Given the description of an element on the screen output the (x, y) to click on. 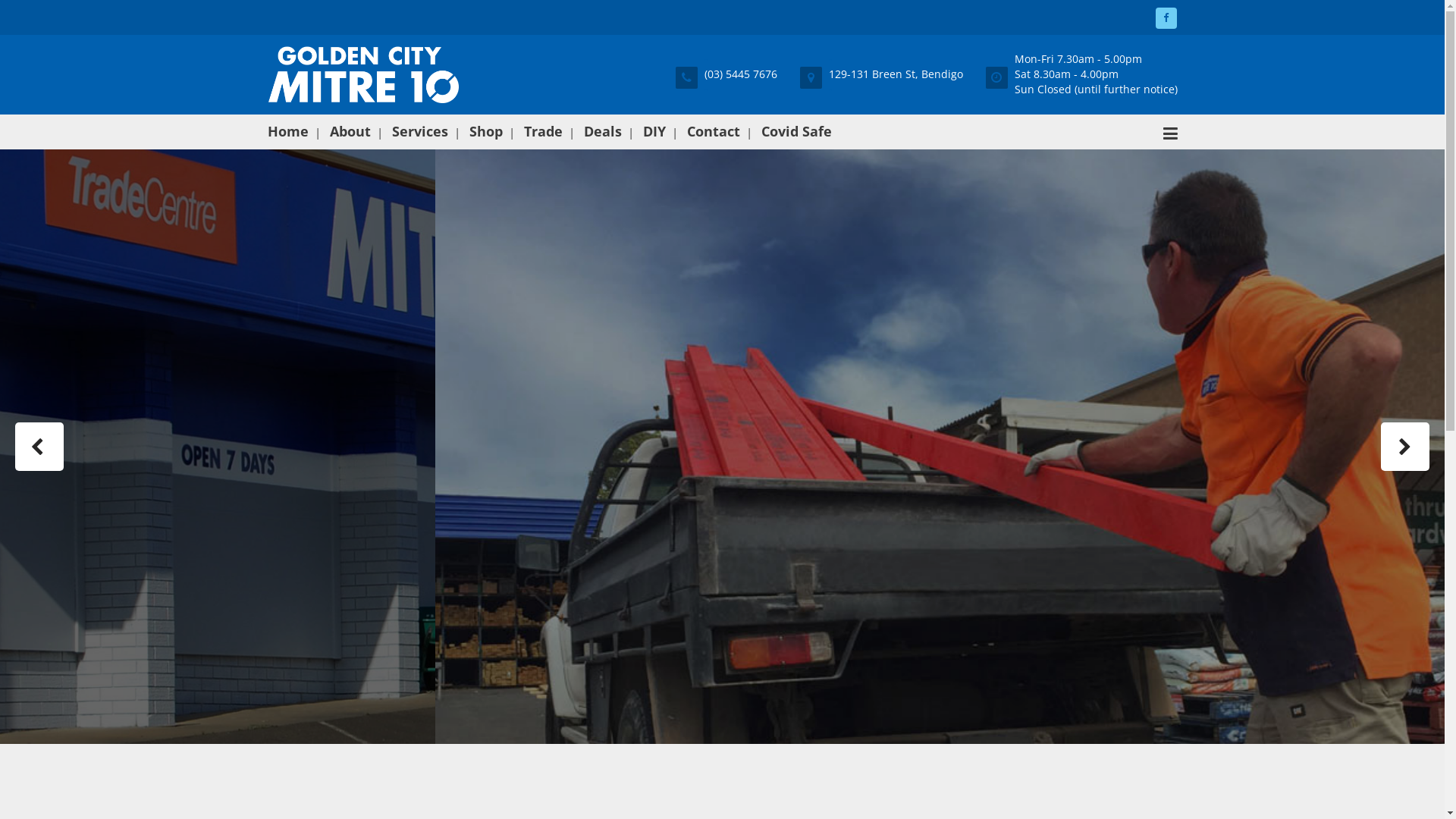
DIY Element type: text (654, 131)
Shop Element type: text (485, 131)
Covid Safe Element type: text (796, 131)
Contact Element type: text (713, 131)
(03) 5445 7676 Element type: text (725, 73)
About Element type: text (349, 131)
Services Element type: text (419, 131)
Deals Element type: text (602, 131)
Home Element type: text (290, 131)
Trade Element type: text (542, 131)
